Given the description of an element on the screen output the (x, y) to click on. 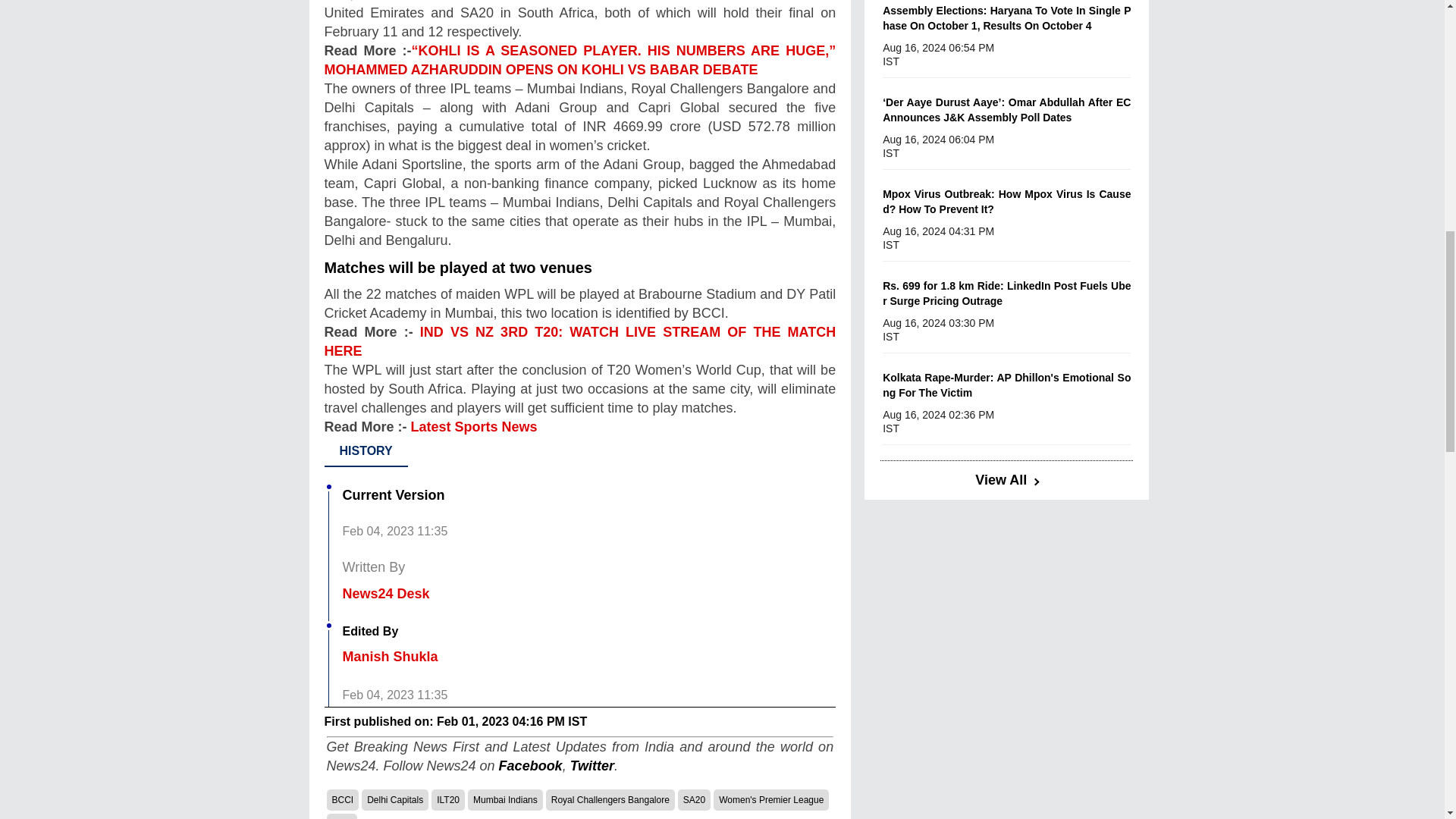
Latest Sports News (473, 426)
IND vs NZ 3rd T20: Watch live stream of the match HERE (579, 341)
News24 Desk (385, 593)
IND VS NZ 3RD T20: WATCH LIVE STREAM OF THE MATCH HERE (579, 341)
Manish Shukla (390, 656)
